Given the description of an element on the screen output the (x, y) to click on. 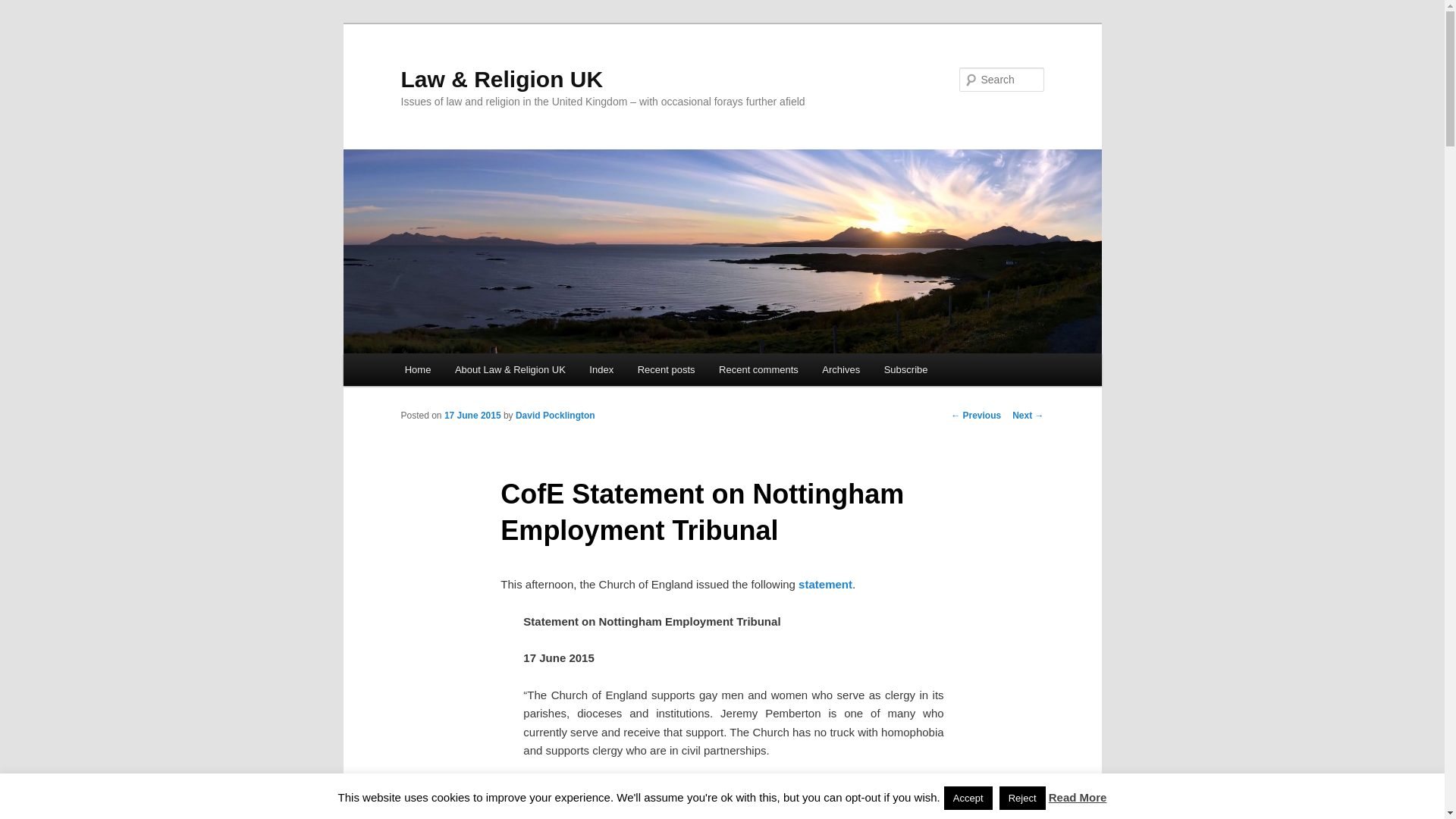
Archives (841, 368)
Home (417, 368)
Recent comments (757, 368)
David Pocklington (555, 415)
Index (602, 368)
Recent posts (666, 368)
Subscribe (905, 368)
statement (824, 584)
Search (24, 8)
17 June 2015 (472, 415)
